Given the description of an element on the screen output the (x, y) to click on. 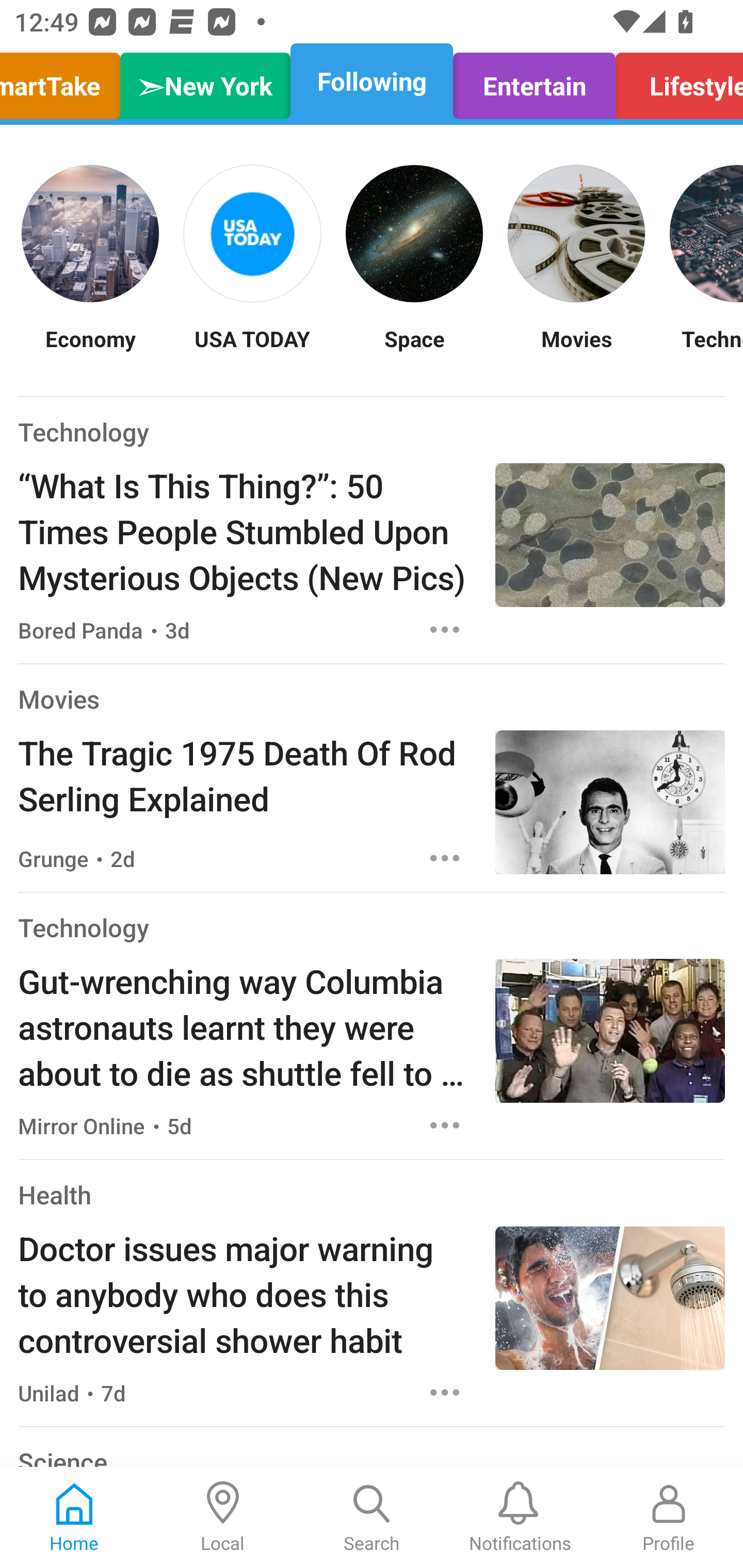
SmartTake (65, 81)
➣New York (205, 81)
Following (371, 81)
Entertain (534, 81)
Economy (89, 350)
USA TODAY (251, 350)
Space (413, 350)
Movies (575, 350)
Technology (83, 430)
Options (444, 629)
Movies (58, 699)
Options (444, 858)
Technology (83, 927)
Options (444, 1125)
Health (54, 1194)
Options (444, 1392)
Local (222, 1517)
Search (371, 1517)
Notifications (519, 1517)
Profile (668, 1517)
